Given the description of an element on the screen output the (x, y) to click on. 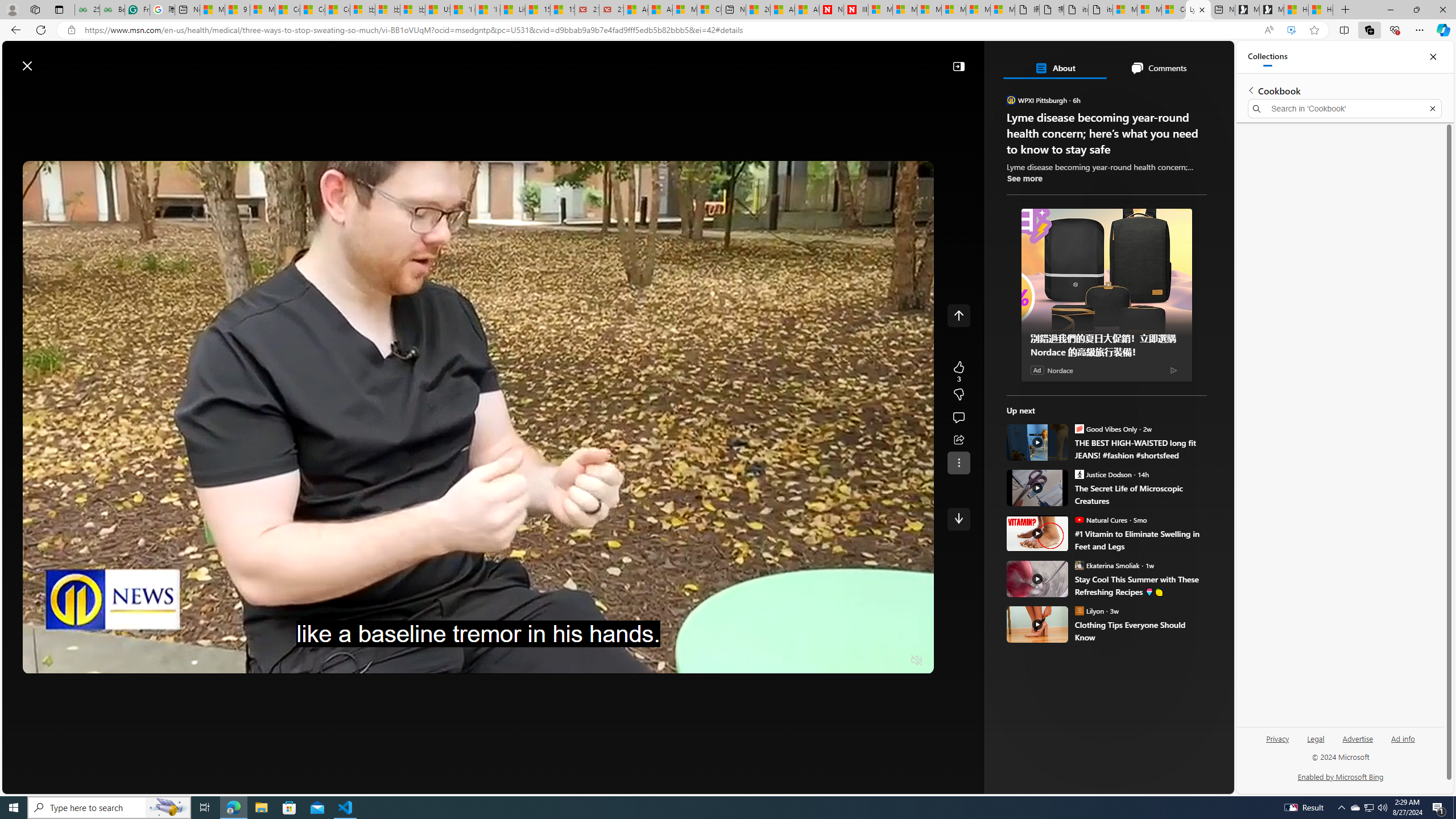
Justice Dodson Justice Dodson (1102, 474)
3 Like (958, 371)
Class: control (958, 518)
The Wall Street Journal (1060, 366)
About (1054, 67)
Notifications (1186, 60)
Reuters (1060, 316)
#1 Vitamin to Eliminate Swelling in Feet and Legs (1140, 539)
Advertise (1358, 742)
Ad info (1402, 742)
